Given the description of an element on the screen output the (x, y) to click on. 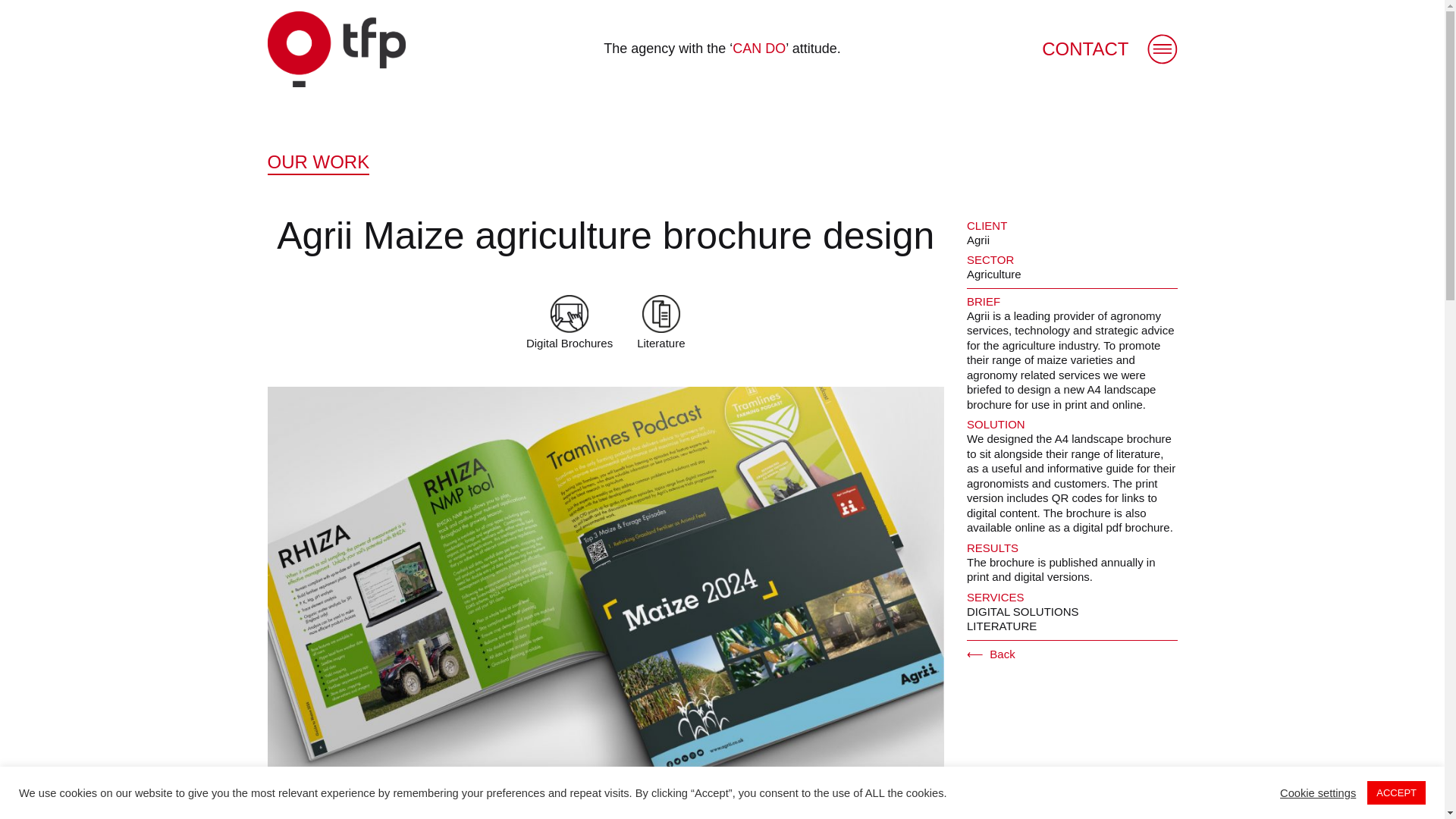
CONTACT (1085, 48)
DIGITAL SOLUTIONS (1022, 611)
Odin (335, 48)
LITERATURE (1001, 625)
